Given the description of an element on the screen output the (x, y) to click on. 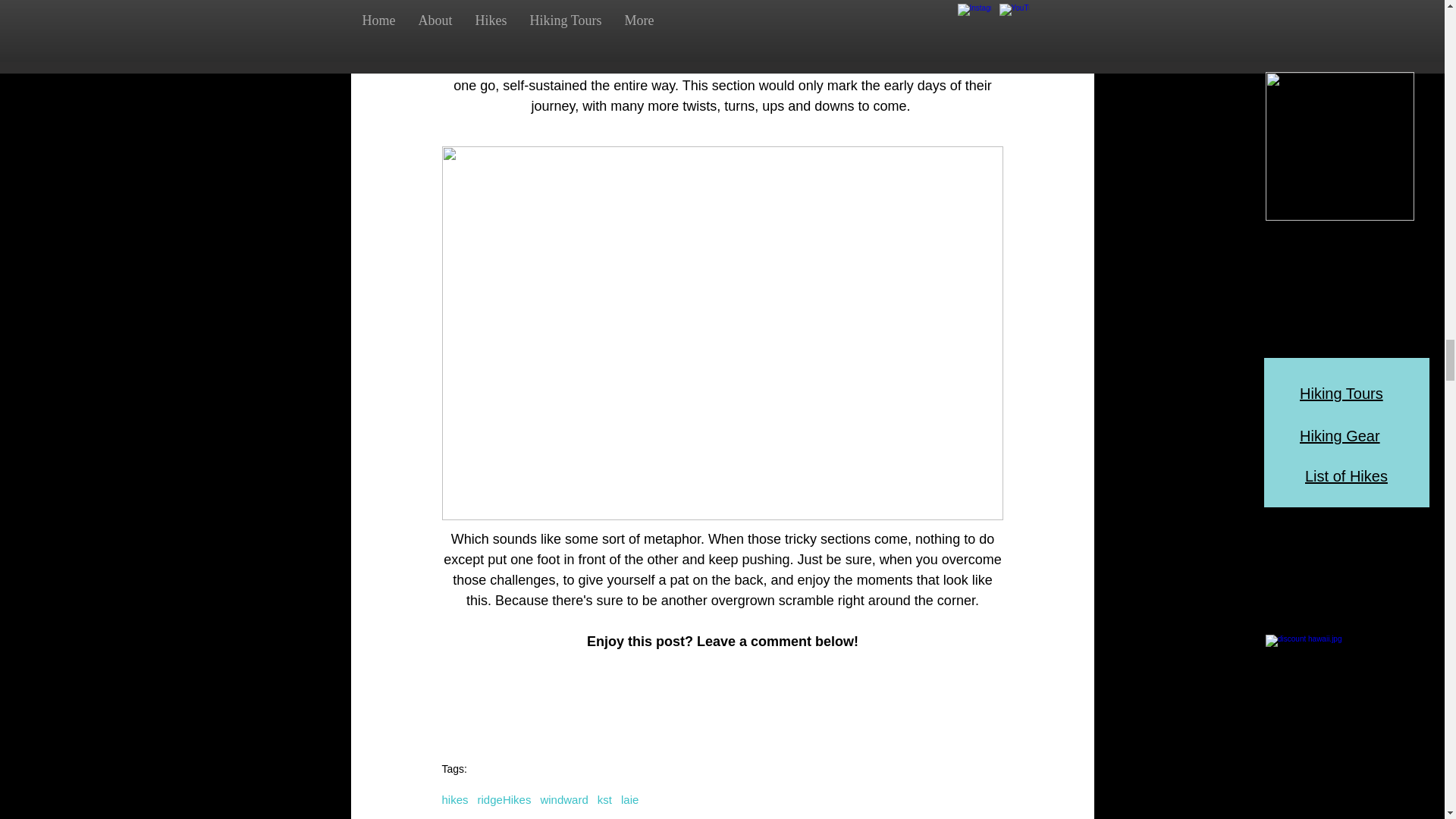
laie (630, 799)
kst (603, 799)
windward (564, 799)
hikes (454, 799)
ridgeHikes (504, 799)
